Given the description of an element on the screen output the (x, y) to click on. 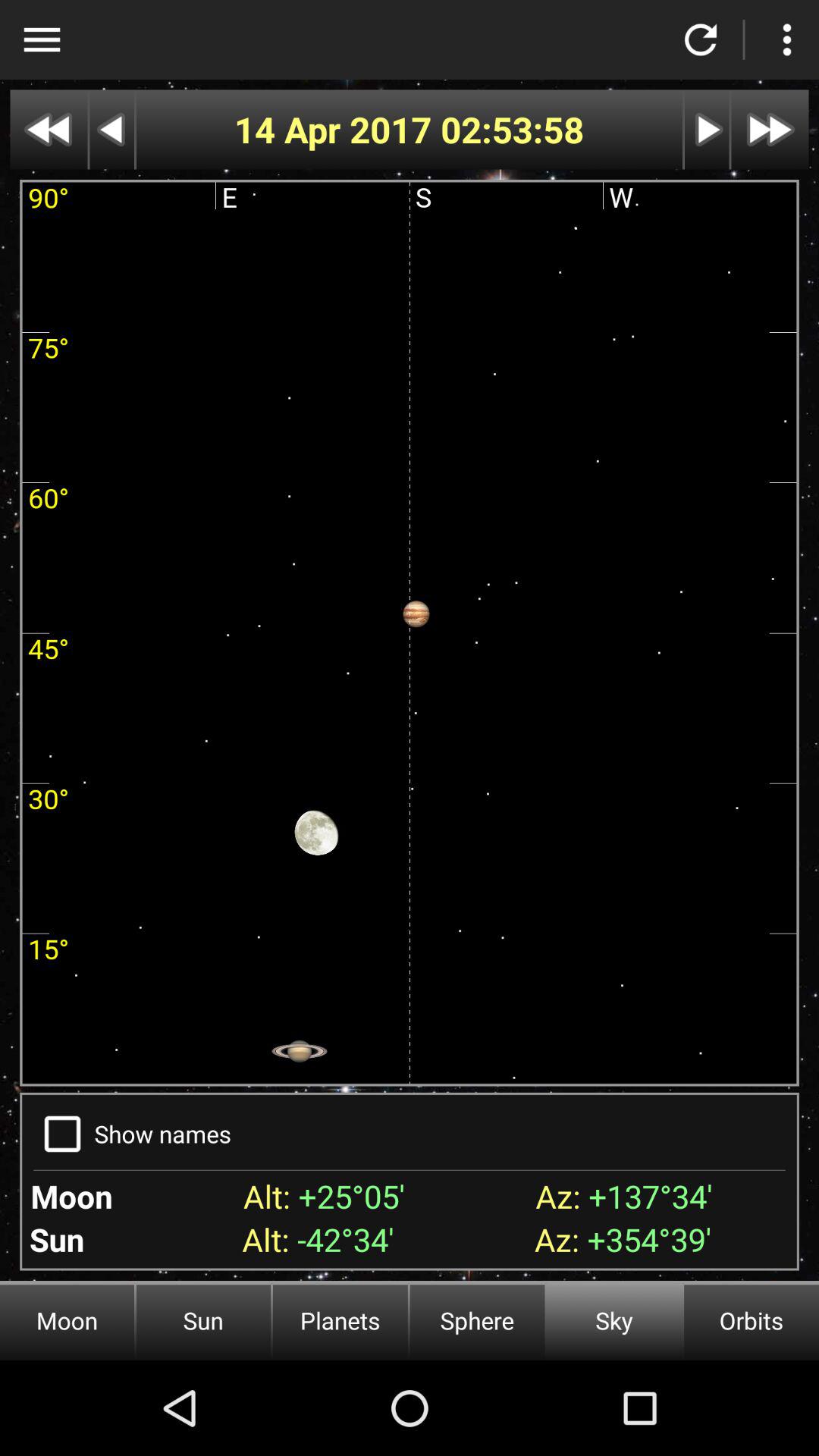
launch the item to the left of the show names icon (62, 1133)
